Given the description of an element on the screen output the (x, y) to click on. 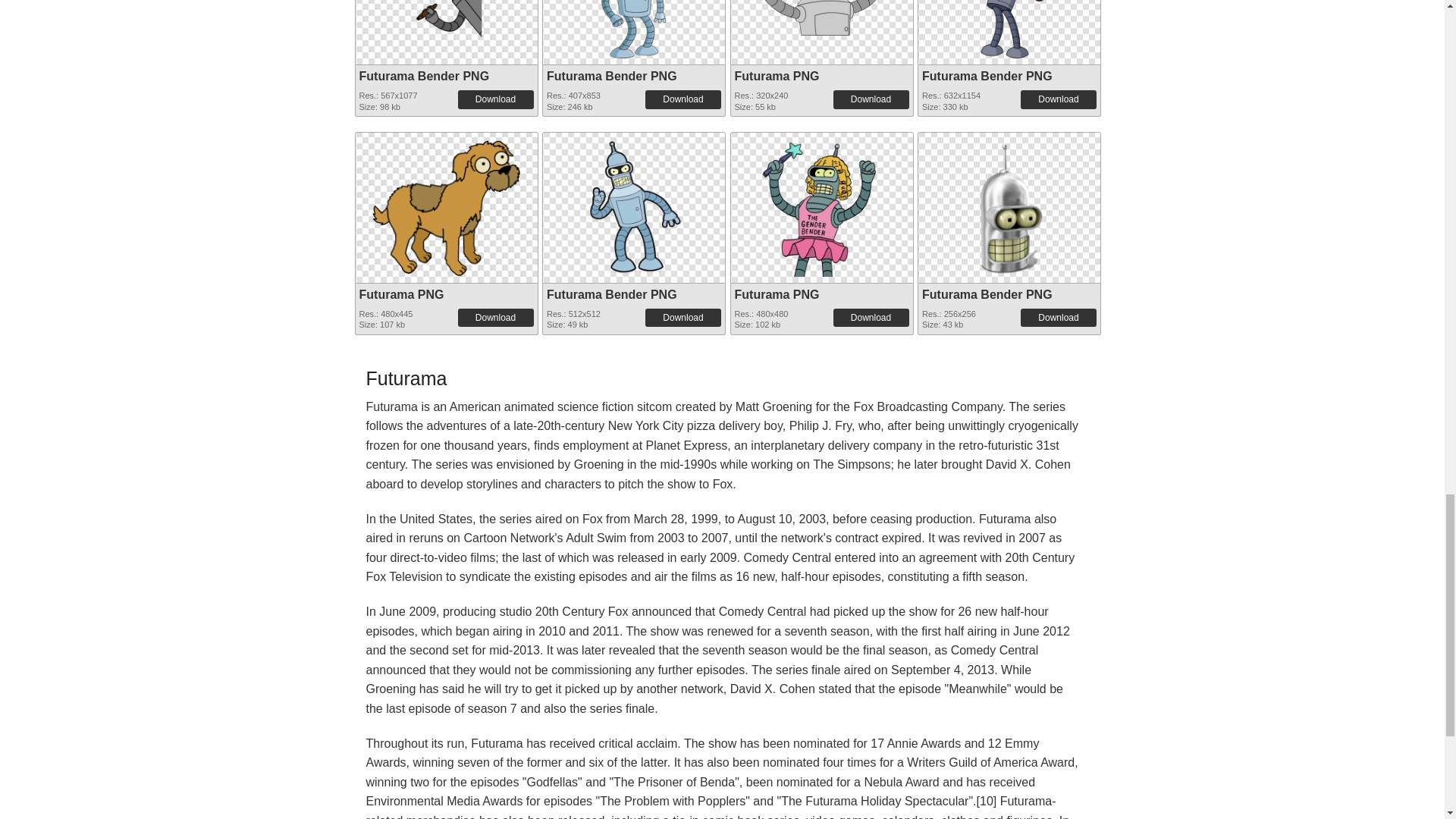
Futurama Bender PNG (445, 29)
Futurama Bender PNG (612, 75)
Futurama Bender PNG (986, 75)
Download (496, 99)
Futurama Bender PNG (424, 75)
Futurama PNG (821, 18)
Download (682, 99)
Futurama Bender PNG (633, 29)
Download (1058, 99)
Download (870, 99)
Futurama PNG (775, 75)
